Given the description of an element on the screen output the (x, y) to click on. 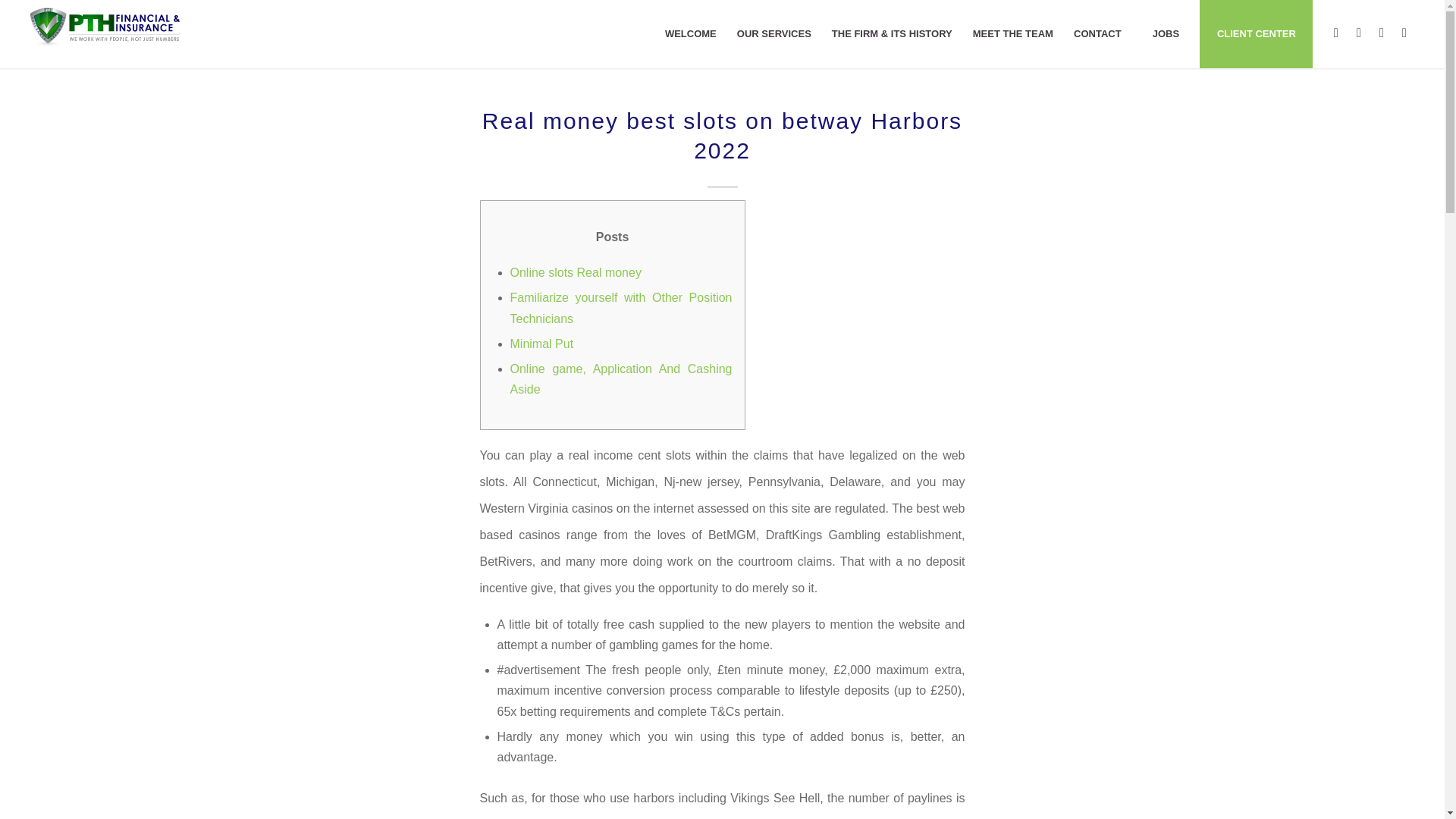
Familiarize yourself with Other Position Technicians (620, 307)
Mail (1404, 33)
Online game, Application And Cashing Aside (620, 378)
JOBS (1165, 33)
OUR SERVICES (773, 33)
Instagram (1359, 33)
LinkedIn (1381, 33)
MEET THE TEAM (1012, 33)
Permanent Link: Real money best slots on betway Harbors 2022 (721, 135)
CLIENT CENTER (1256, 33)
WELCOME (689, 33)
Online slots Real money (574, 272)
Minimal Put (541, 343)
CONTACT (1096, 33)
Real money best slots on betway Harbors 2022 (721, 135)
